Given the description of an element on the screen output the (x, y) to click on. 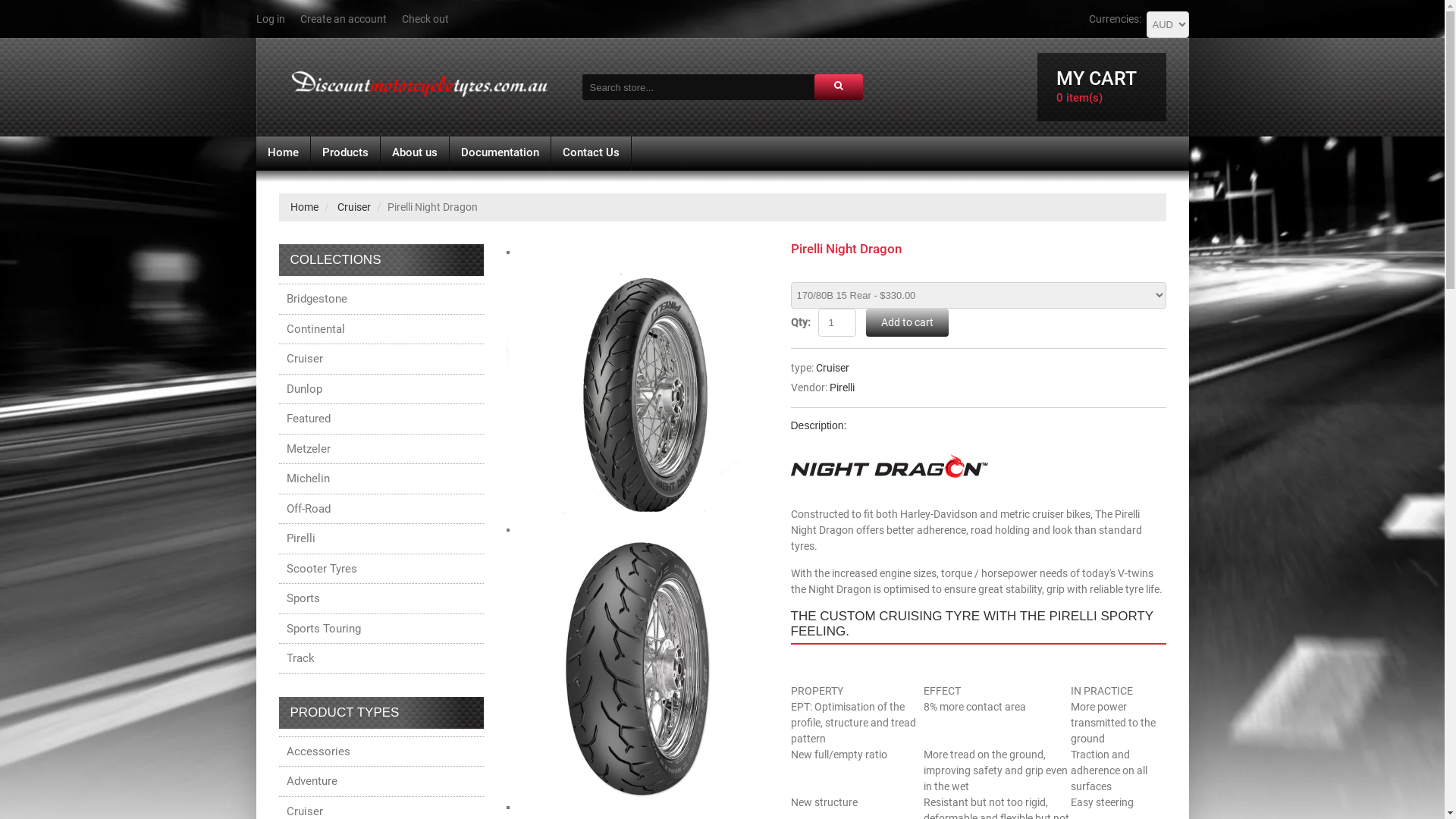
Documentation Element type: text (498, 153)
Dunlop Element type: text (381, 388)
Off-Road Element type: text (381, 507)
Pirelli Night Dragon Element type: hover (637, 267)
MY CART
0item(s) Element type: text (1101, 87)
About us Element type: text (414, 153)
Check out Element type: text (424, 18)
Adventure Element type: text (381, 780)
Cruiser Element type: text (381, 358)
Track Element type: text (381, 658)
Products Element type: text (344, 153)
Cruiser Element type: text (832, 366)
Log in Element type: text (270, 18)
Pirelli Night Dragon Element type: hover (637, 545)
Bridgestone Element type: text (381, 298)
Pirelli Element type: text (381, 538)
Accessories Element type: text (381, 750)
Contact Us Element type: text (590, 153)
Pirelli Element type: text (841, 386)
Metzeler Element type: text (381, 448)
Sports Touring Element type: text (381, 627)
Sports Element type: text (381, 598)
Michelin Element type: text (381, 478)
Scooter Tyres Element type: text (381, 568)
Cruiser Element type: text (353, 206)
Featured Element type: text (381, 418)
Home Element type: text (283, 153)
Home Element type: text (303, 206)
Create an account Element type: text (343, 18)
Add to cart Element type: text (907, 321)
Continental Element type: text (381, 329)
